Given the description of an element on the screen output the (x, y) to click on. 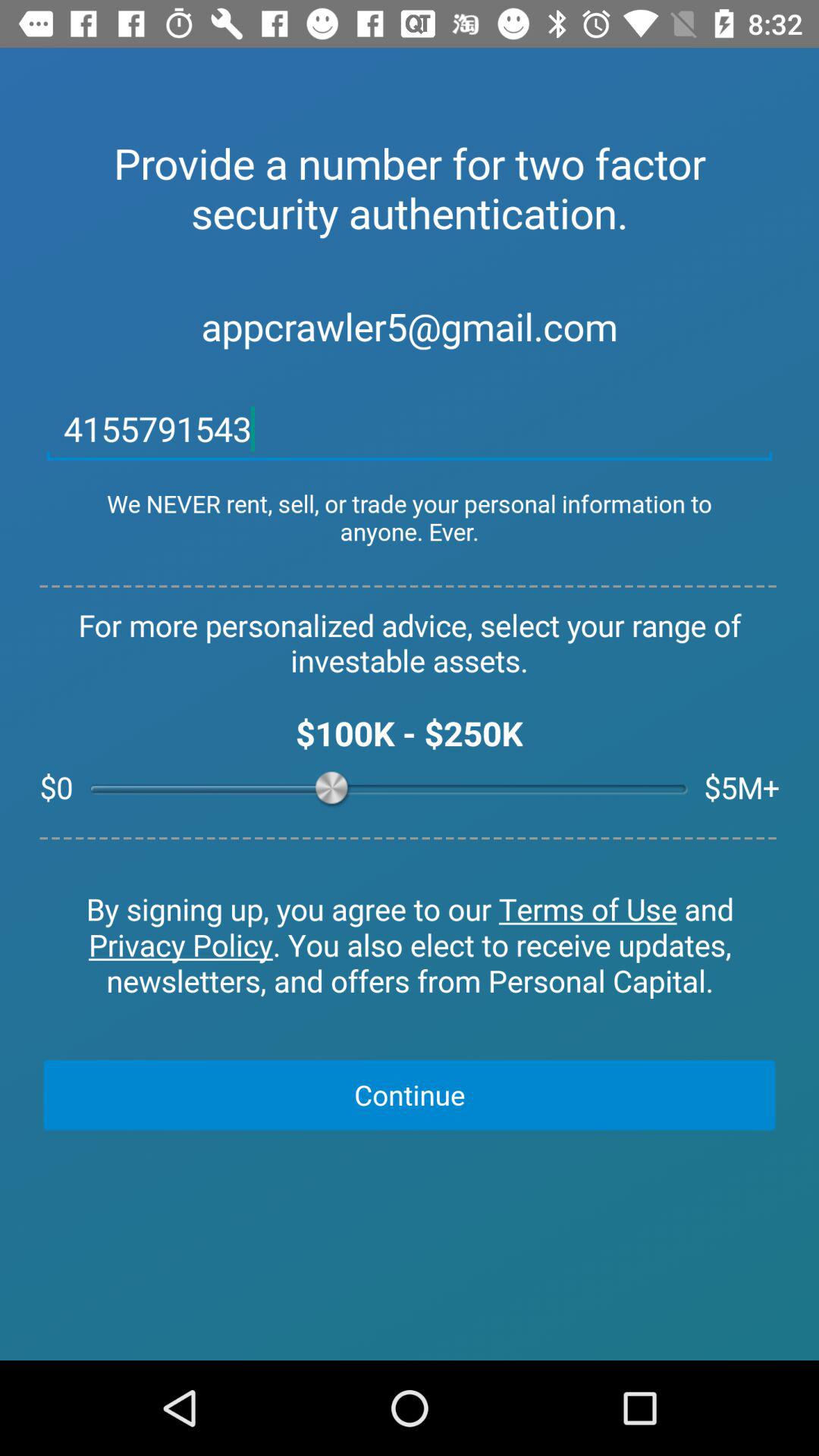
terms and privacy rules (409, 946)
